Given the description of an element on the screen output the (x, y) to click on. 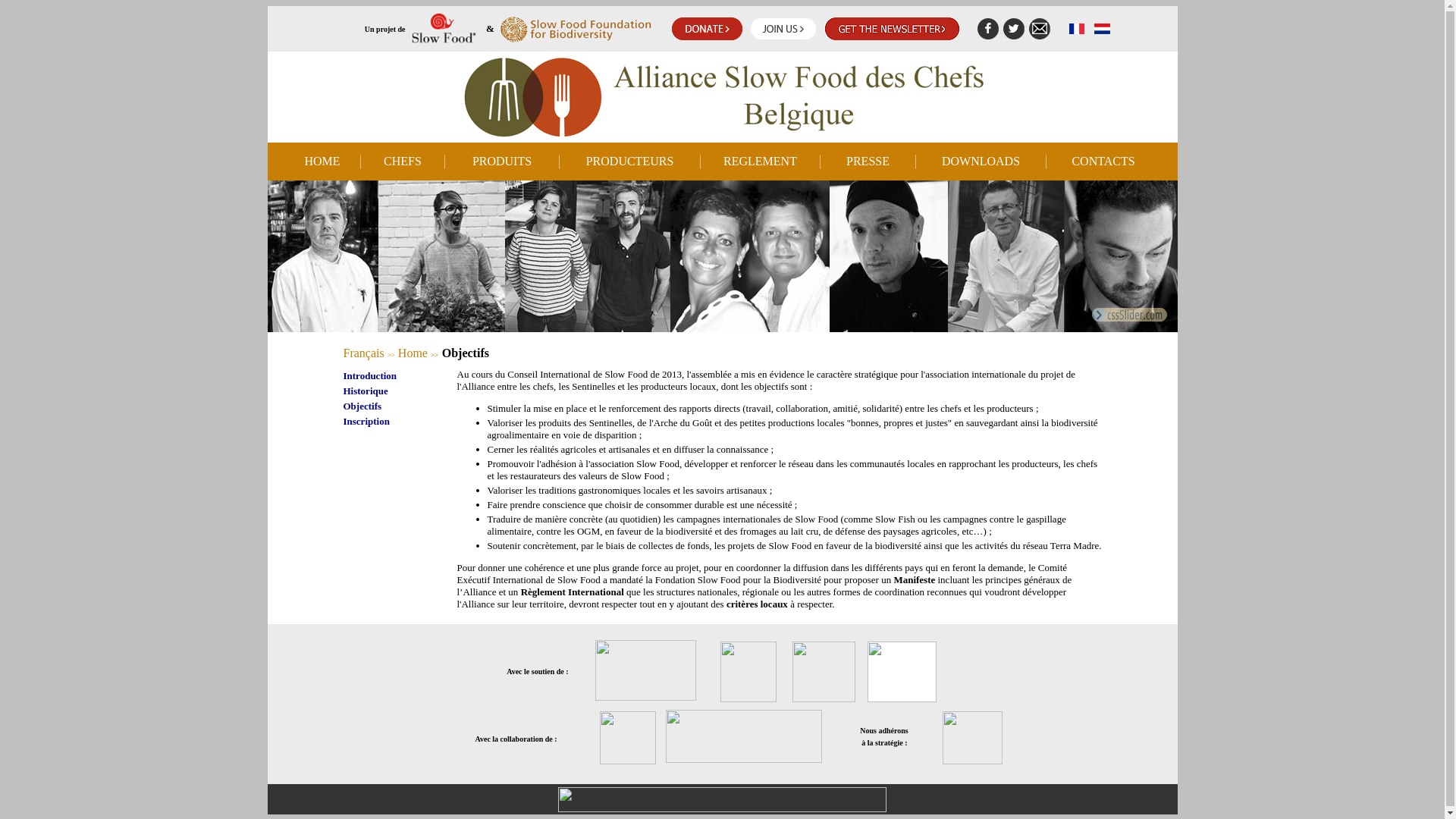
Historique Element type: text (364, 390)
PRODUCTEURS Element type: text (630, 160)
REGLEMENT Element type: text (760, 160)
Inscription Element type: text (365, 420)
Introduction Element type: text (369, 375)
PRODUITS Element type: text (501, 160)
DOWNLOADS Element type: text (980, 160)
Objectifs Element type: text (361, 405)
Home Element type: text (412, 352)
CHEFS Element type: text (402, 160)
06 Element type: hover (721, 256)
HOME Element type: text (321, 160)
CONTACTS Element type: text (1102, 160)
PRESSE Element type: text (867, 160)
